Given the description of an element on the screen output the (x, y) to click on. 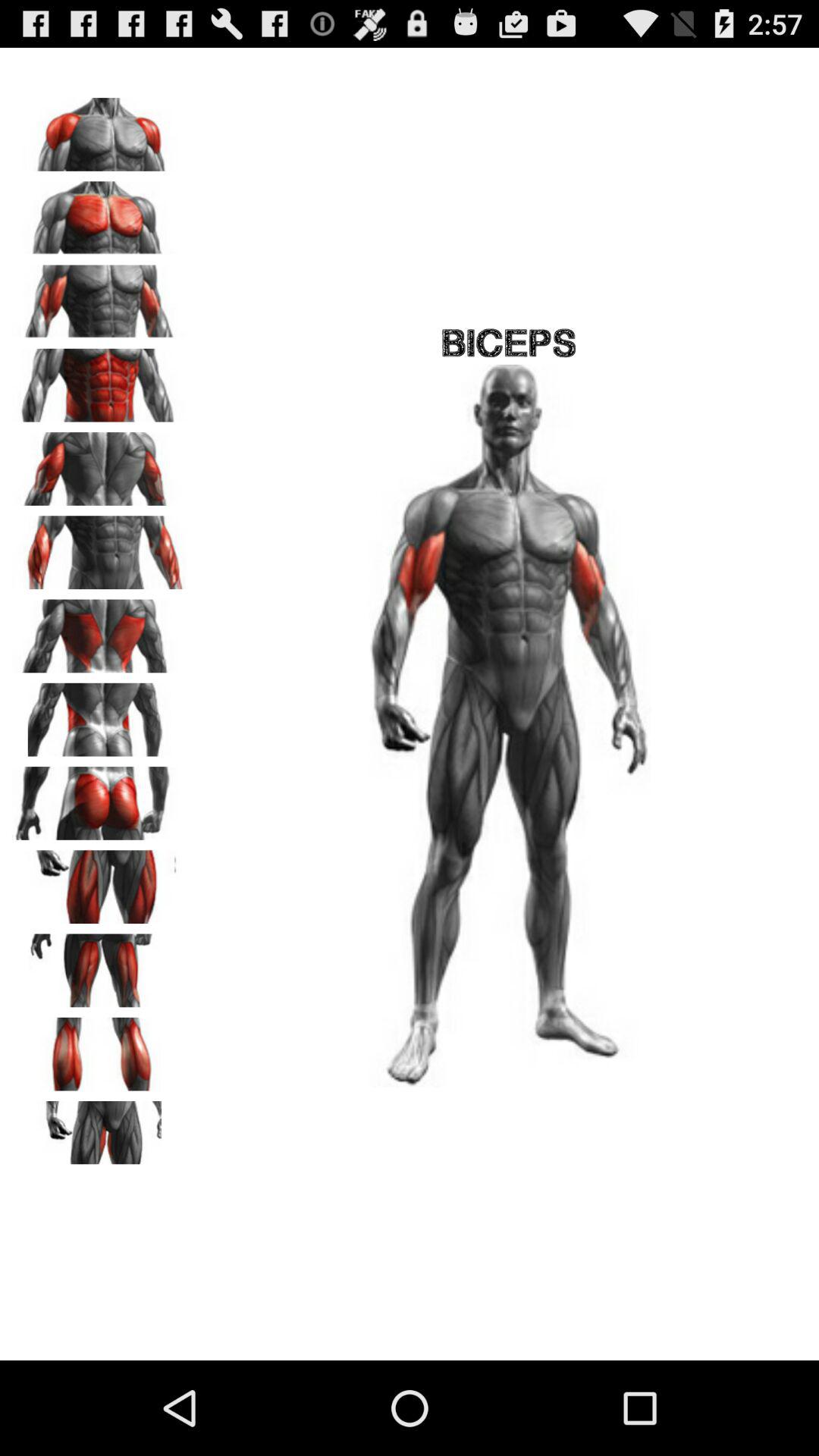
choose option (99, 1132)
